Given the description of an element on the screen output the (x, y) to click on. 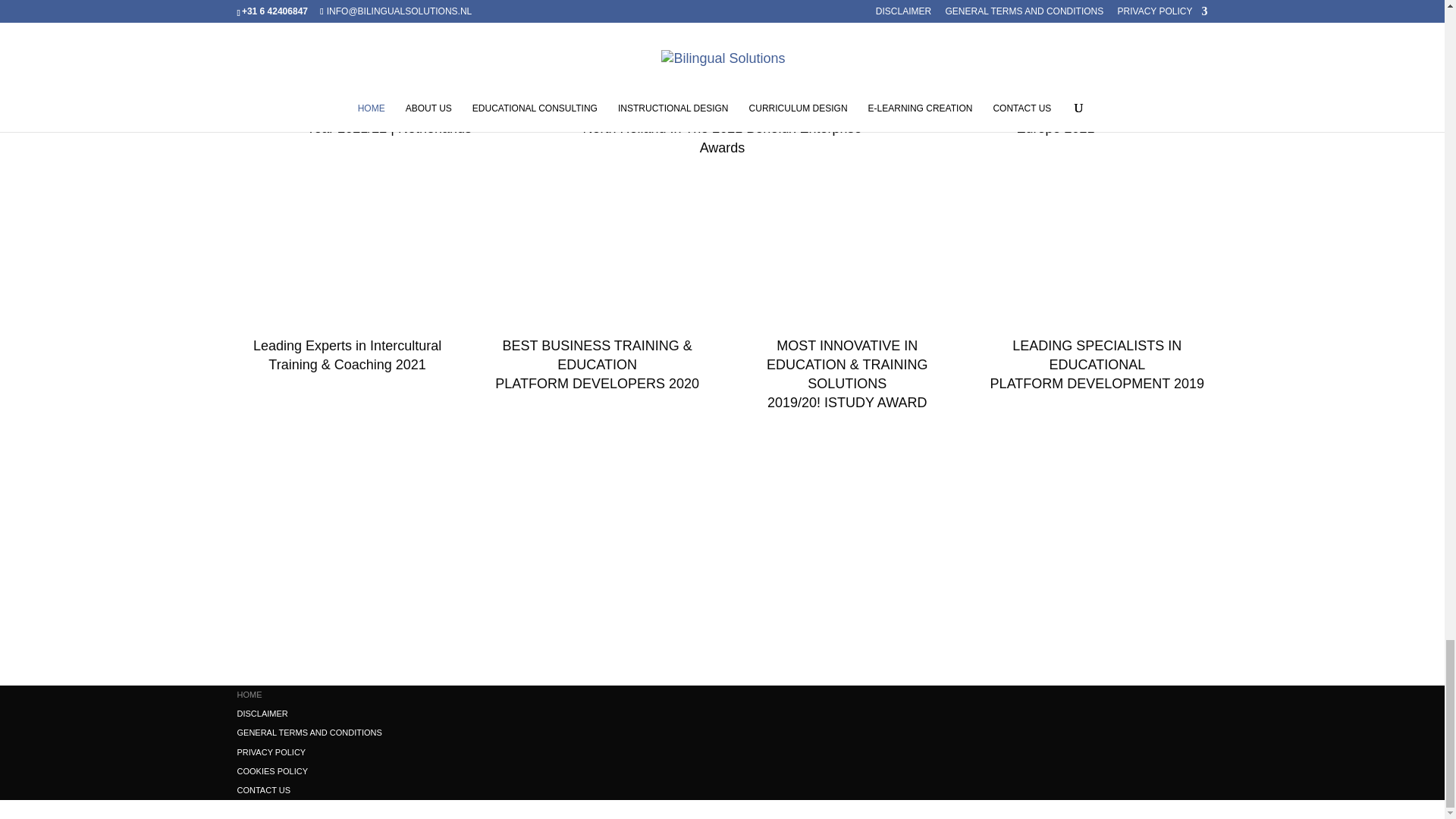
DISCLAIMER (260, 713)
HOME (248, 694)
COOKIES POLICY (271, 770)
PRIVACY POLICY (270, 751)
CONTACT US (262, 789)
GENERAL TERMS AND CONDITIONS (308, 732)
